Given the description of an element on the screen output the (x, y) to click on. 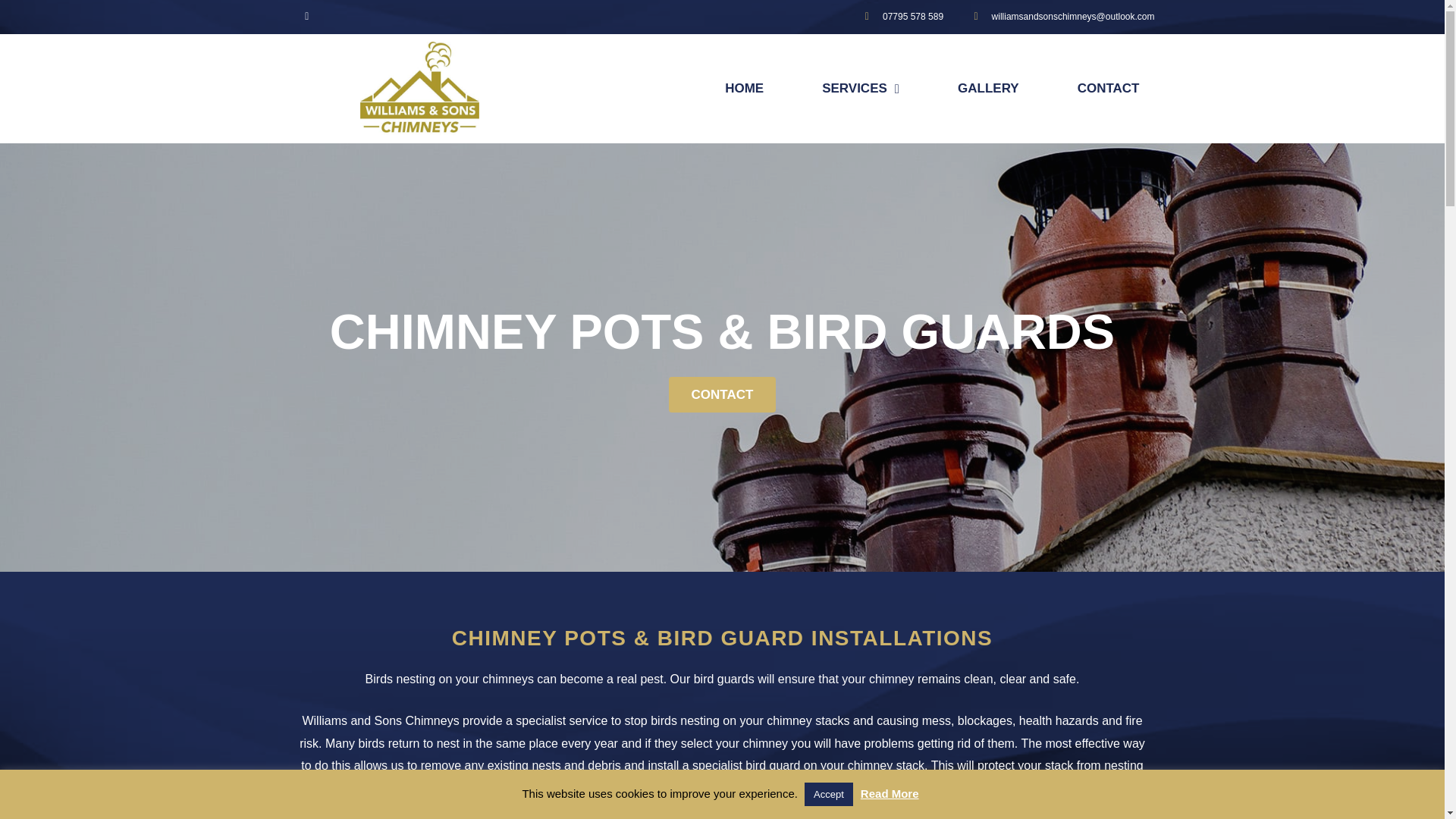
Read More (889, 793)
HOME (744, 88)
GALLERY (987, 88)
SERVICES (860, 88)
CONTACT (722, 394)
07795 578 589 (899, 16)
Accept (829, 793)
CONTACT (1108, 88)
